Given the description of an element on the screen output the (x, y) to click on. 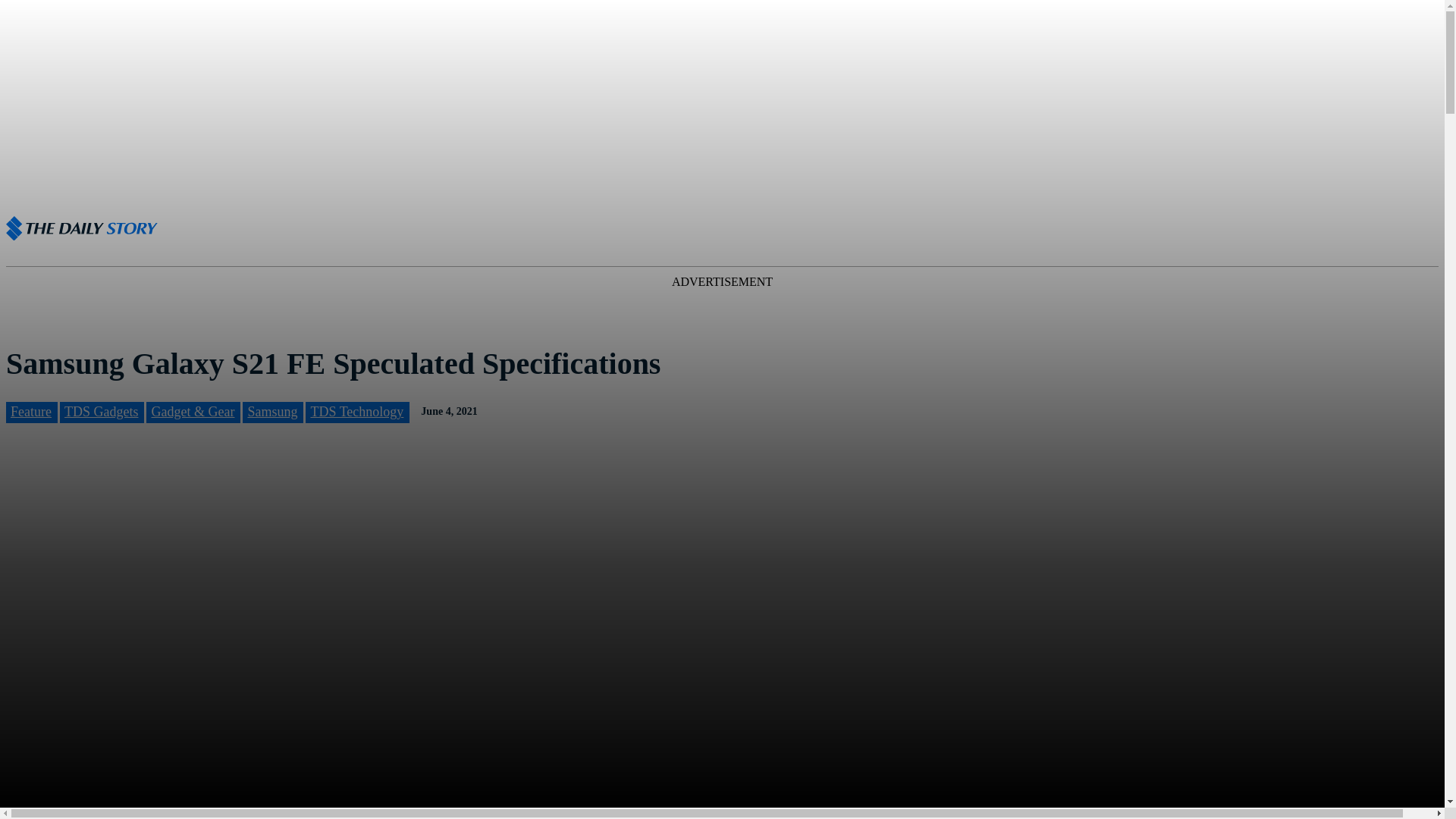
Samsung (272, 411)
Feature (30, 411)
TDS Technology (356, 411)
TDS Gadgets (100, 411)
